Given the description of an element on the screen output the (x, y) to click on. 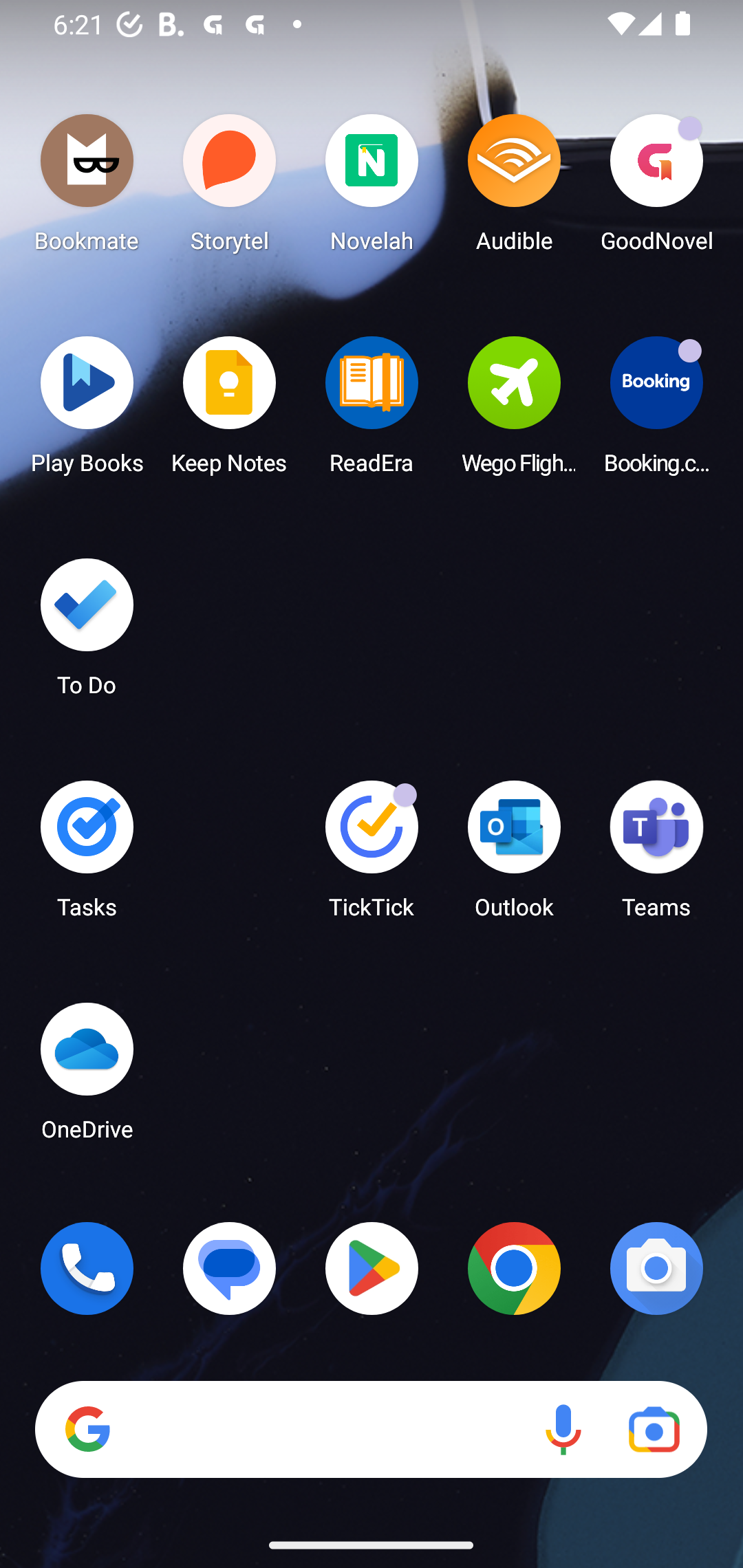
Bookmate (86, 188)
Storytel (229, 188)
Novelah (371, 188)
Audible (513, 188)
GoodNovel GoodNovel has 19 notifications (656, 188)
Play Books (86, 410)
Keep Notes (229, 410)
ReadEra (371, 410)
Wego Flights & Hotels (513, 410)
Booking.com Booking.com has 1 notification (656, 410)
To Do (86, 633)
Tasks (86, 854)
TickTick TickTick has 3 notifications (371, 854)
Outlook (513, 854)
Teams (656, 854)
OneDrive (86, 1076)
Phone (86, 1268)
Messages (229, 1268)
Play Store (371, 1268)
Chrome (513, 1268)
Camera (656, 1268)
Search Voice search Google Lens (370, 1429)
Voice search (562, 1429)
Google Lens (653, 1429)
